Given the description of an element on the screen output the (x, y) to click on. 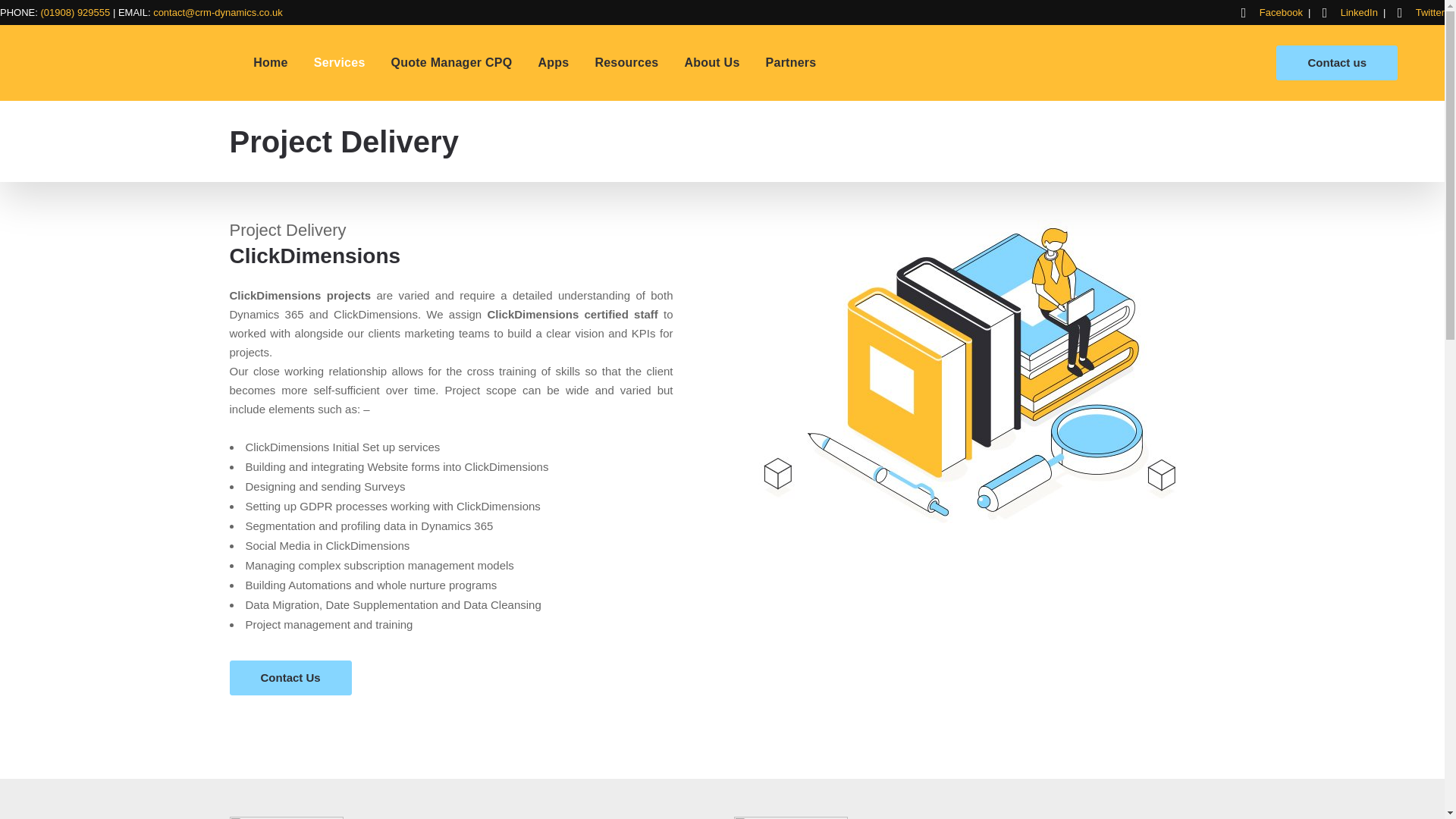
Contact us (1336, 62)
LinkedIn (1358, 12)
Resources (625, 62)
Quote Manager CPQ (451, 62)
Services (339, 62)
Facebook (1281, 12)
